Given the description of an element on the screen output the (x, y) to click on. 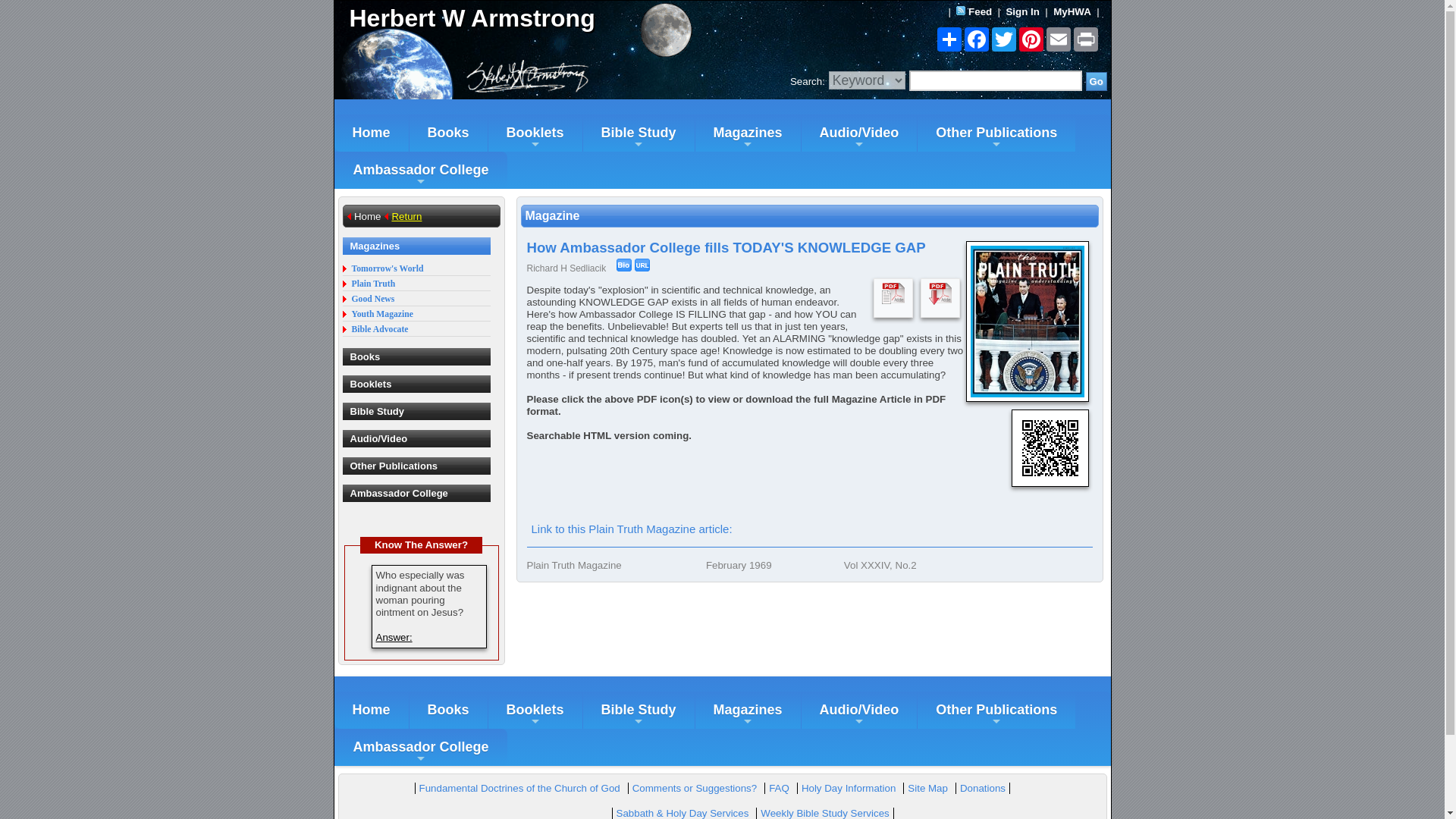
Herbert W Armstrong Library (528, 18)
Twitter (1003, 39)
Go (1096, 81)
Email (1058, 39)
Click here to link to this Plain Truth Magazine article. (630, 528)
Other Publications (996, 132)
Pinterest (1031, 39)
Go (1096, 81)
Link to this Plain Truth Magazine article: (630, 528)
Feed (979, 11)
Sign In (1022, 11)
Click here to link to this Plain Truth Magazine article. (641, 264)
